Given the description of an element on the screen output the (x, y) to click on. 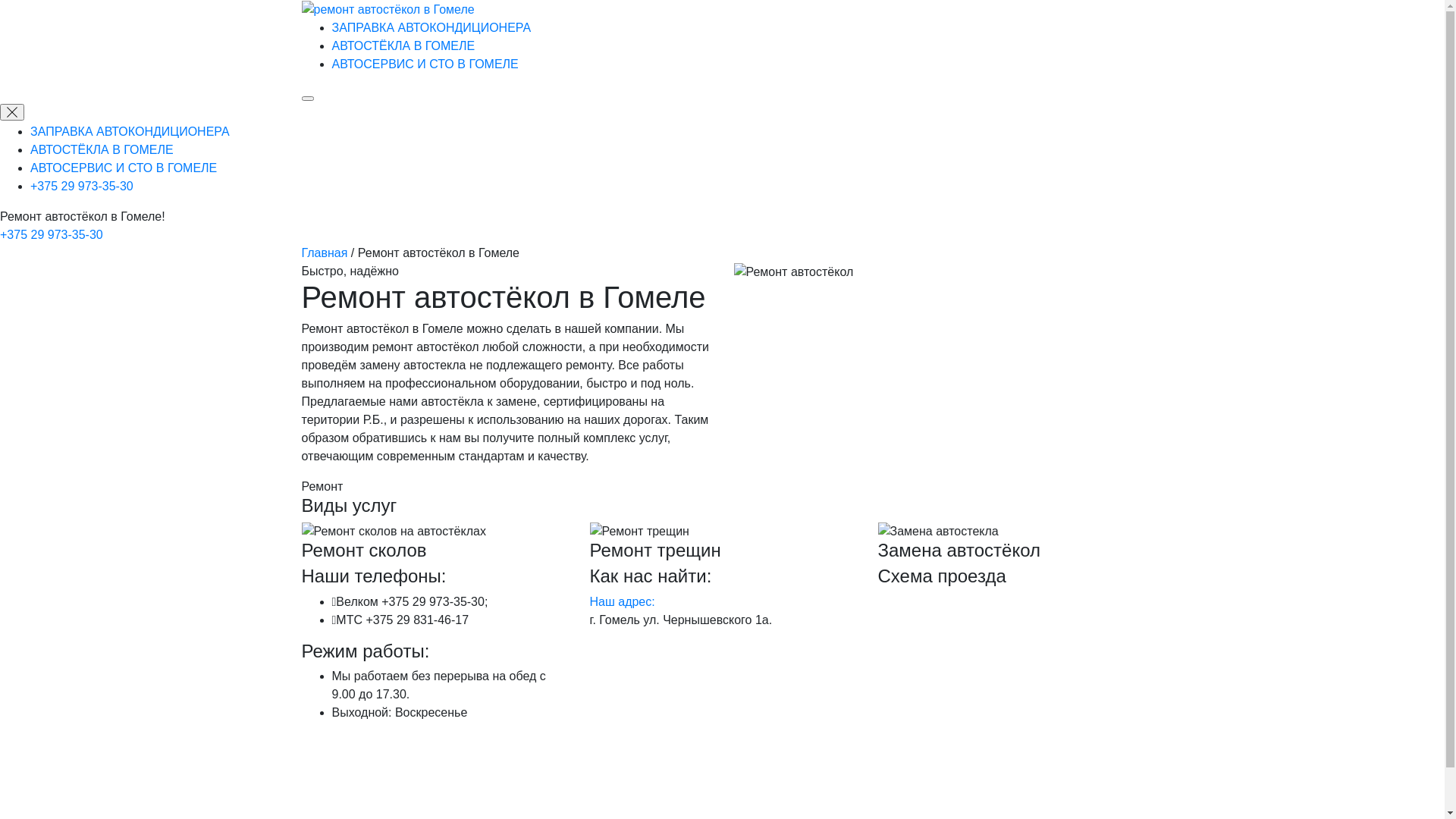
+375 29 973-35-30 Element type: text (51, 234)
+375 29 973-35-30 Element type: text (81, 185)
